Given the description of an element on the screen output the (x, y) to click on. 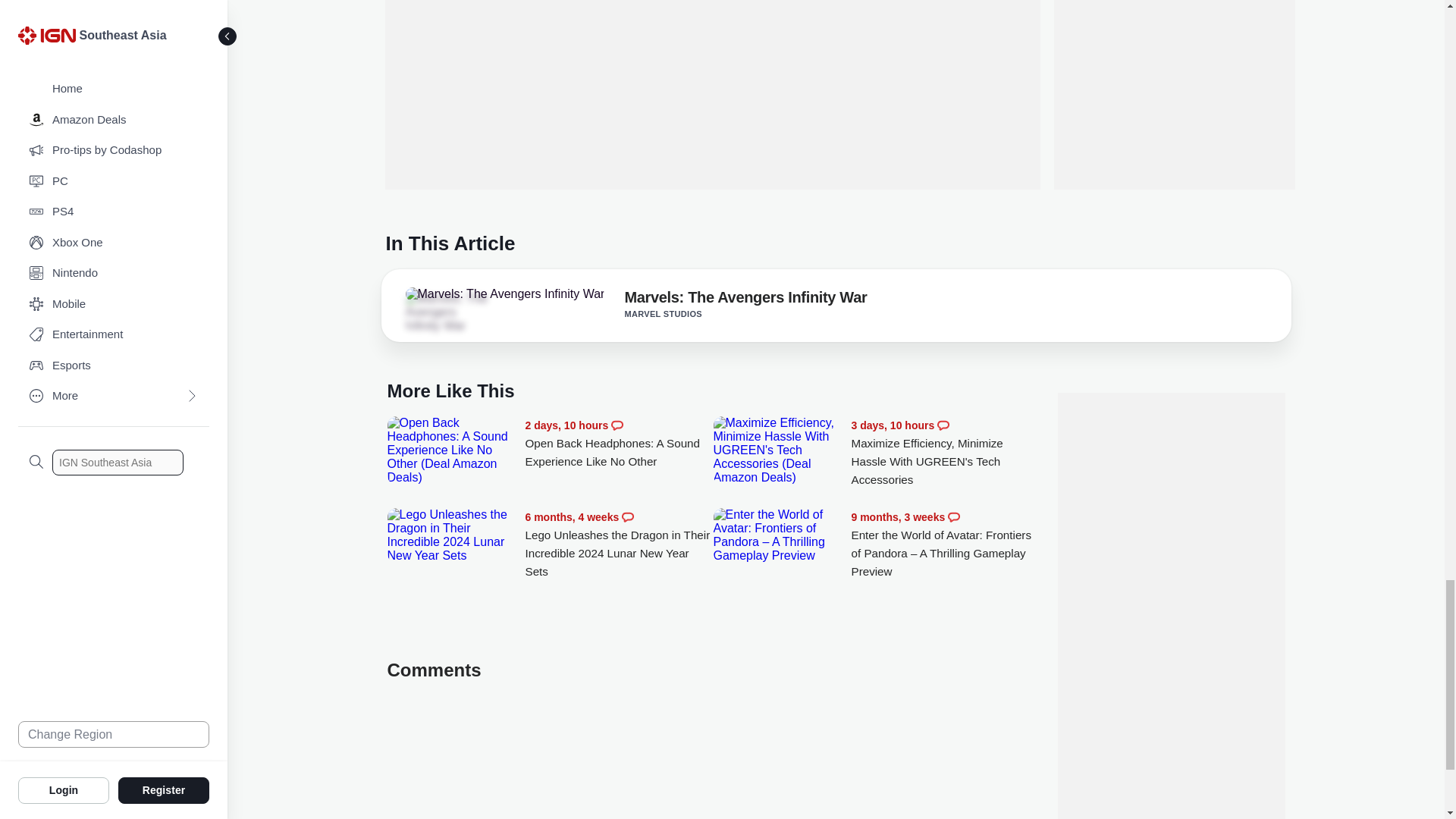
Comments (627, 517)
Marvels: The Avengers Infinity War (745, 300)
Open Back Headphones: A Sound Experience Like No Other (618, 443)
Marvels: The Avengers Infinity War (504, 294)
Comments (943, 425)
Marvels: The Avengers Infinity War (448, 311)
Open Back Headphones: A Sound Experience Like No Other (451, 450)
Comments (617, 425)
